Given the description of an element on the screen output the (x, y) to click on. 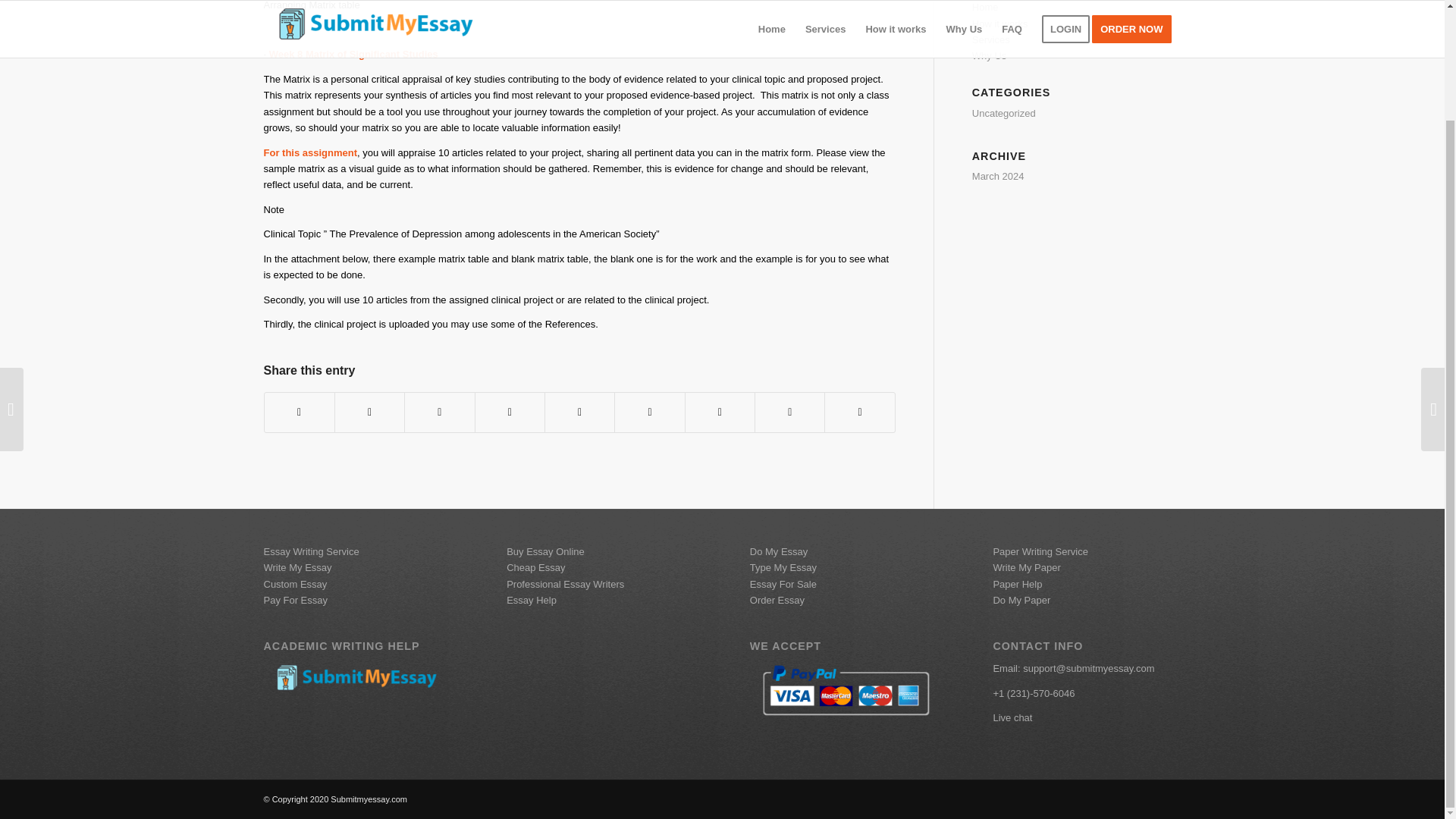
Services (991, 39)
March 2024 (998, 175)
Uncategorized (1003, 112)
How it works (999, 23)
Home (985, 7)
Week 8 Matrix of Significant Studies (353, 53)
Why Us (989, 55)
